Given the description of an element on the screen output the (x, y) to click on. 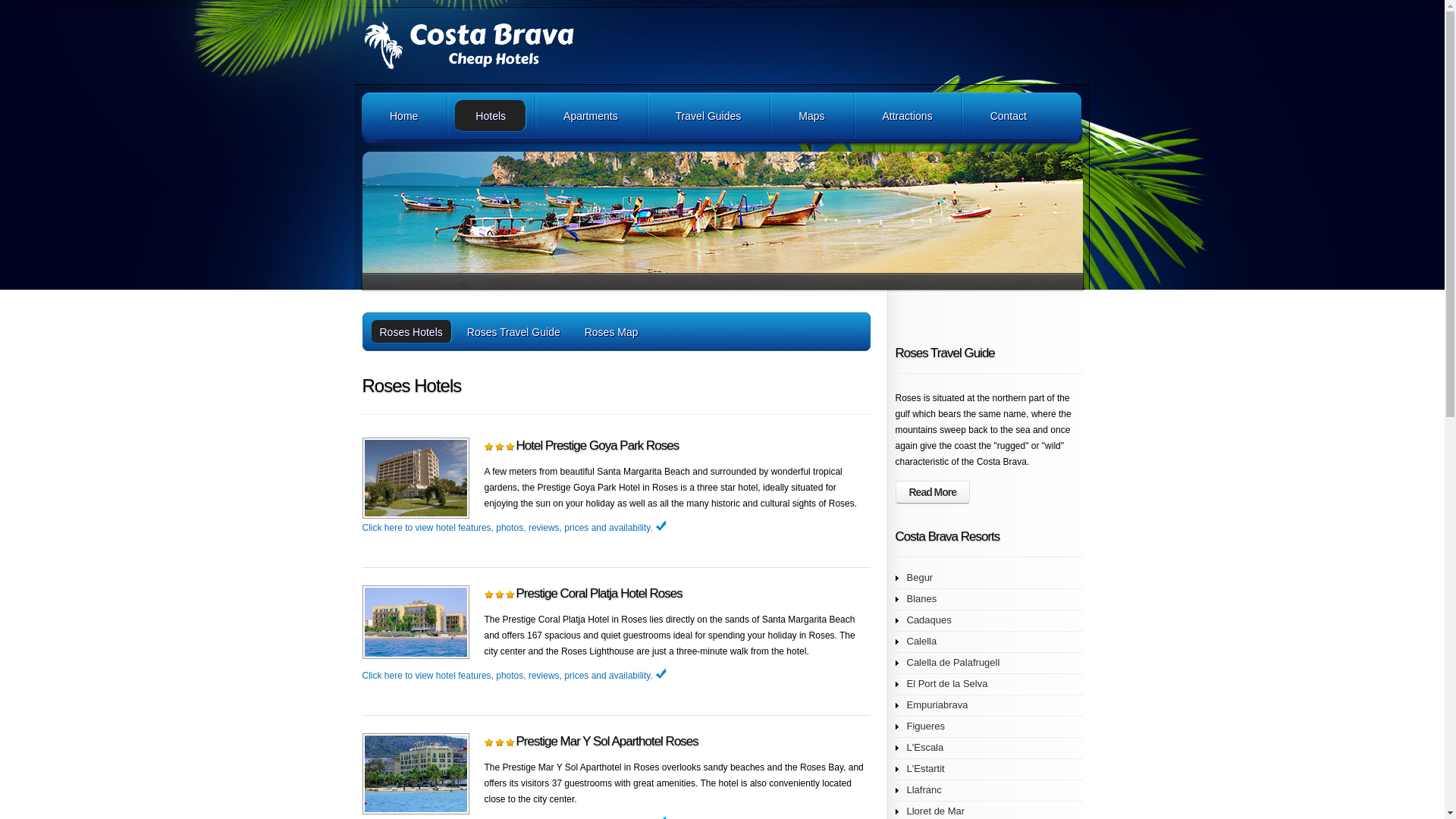
Home (403, 115)
Travel Guides (708, 115)
Costa Brava Hotels (536, 44)
Apartments (590, 115)
Hotels (490, 115)
